Given the description of an element on the screen output the (x, y) to click on. 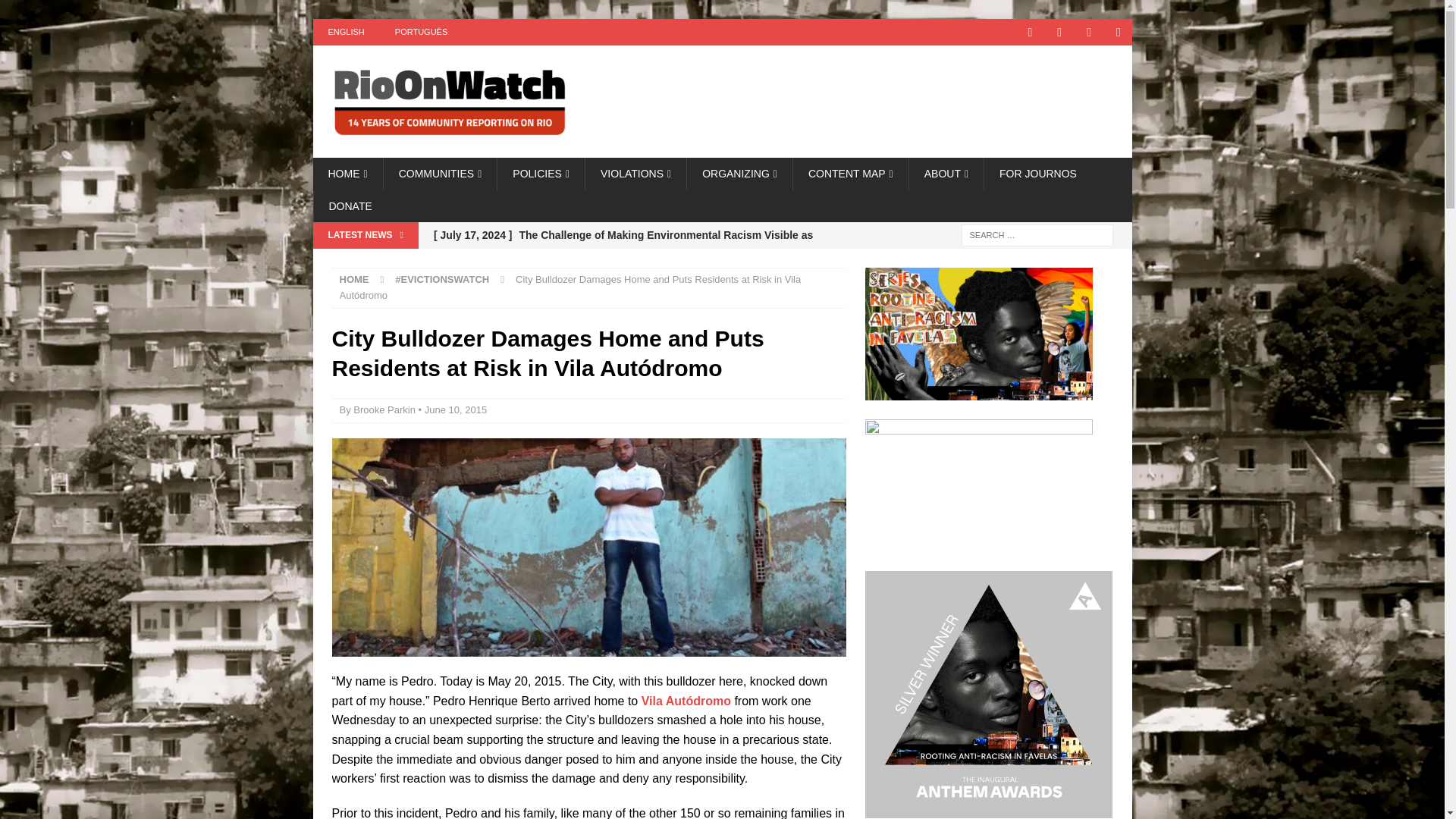
ENGLISH (345, 31)
